Given the description of an element on the screen output the (x, y) to click on. 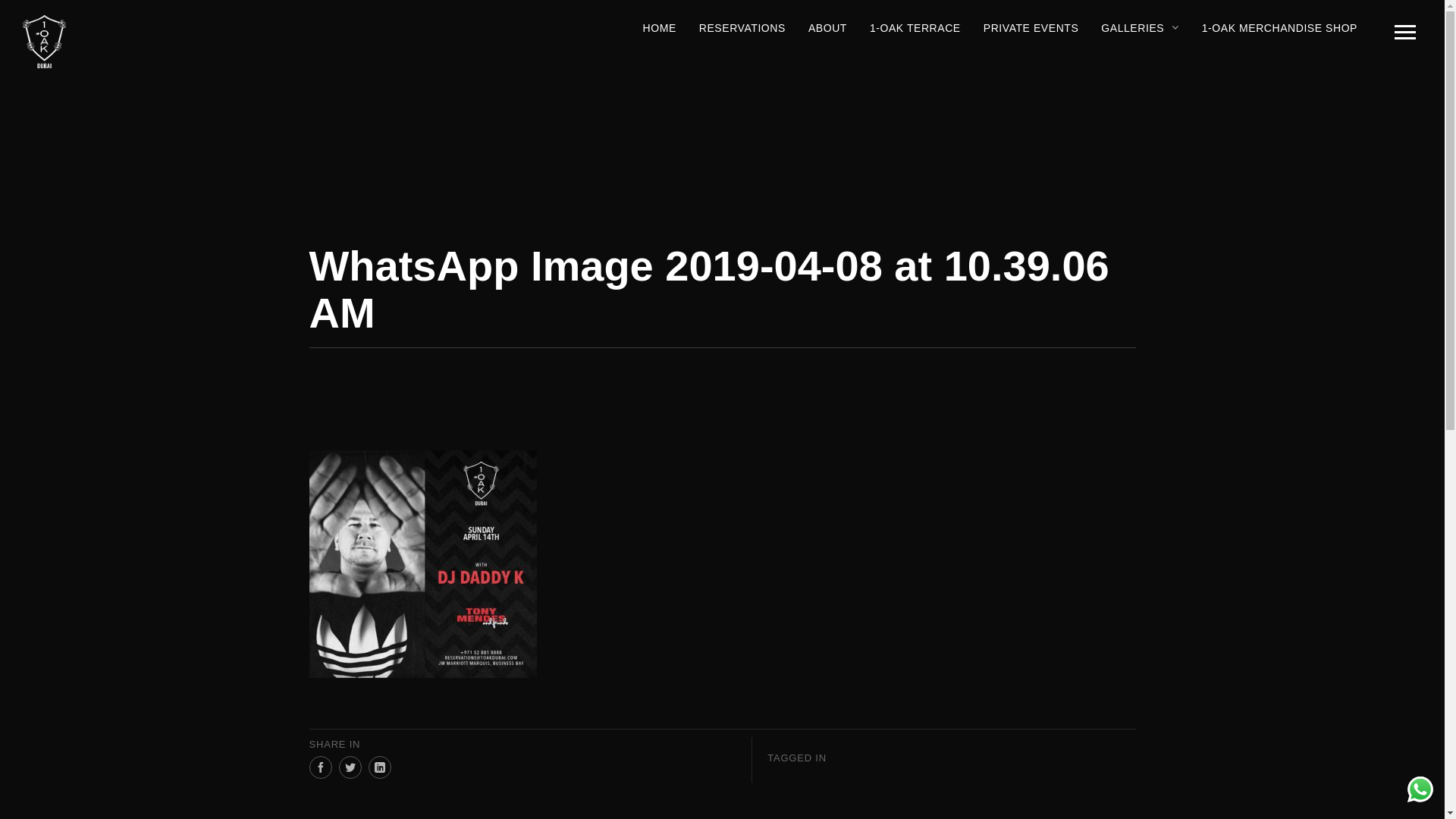
HOME Element type: text (659, 28)
1-OAK MERCHANDISE SHOP Element type: text (1279, 28)
1-OAK TERRACE Element type: text (915, 28)
ABOUT Element type: text (827, 28)
GALLERIES Element type: text (1139, 28)
PRIVATE EVENTS Element type: text (1031, 28)
RESERVATIONS Element type: text (742, 28)
